Given the description of an element on the screen output the (x, y) to click on. 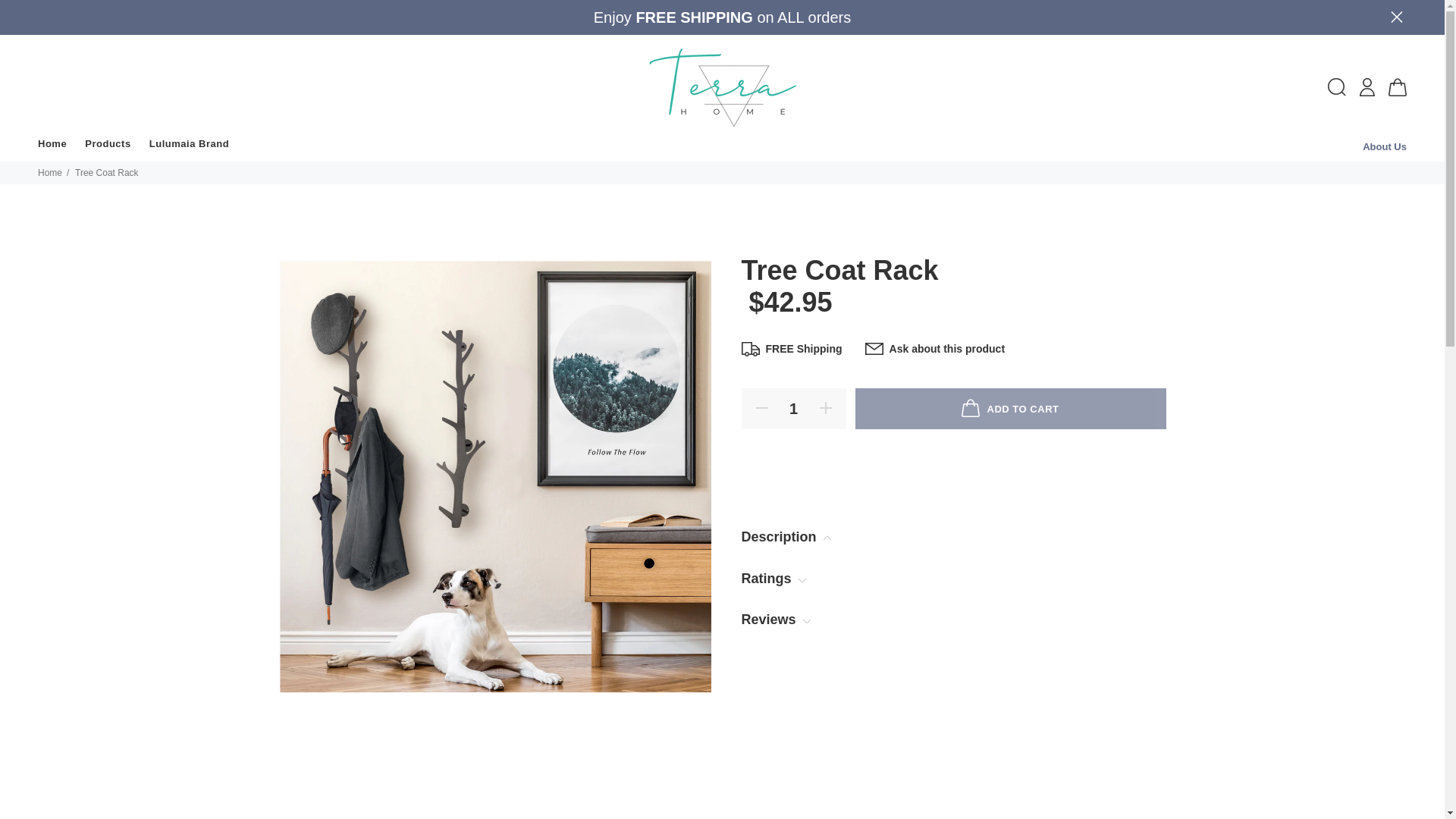
About Us (1384, 146)
Products (107, 146)
1 (793, 408)
Ask about this product (934, 350)
Lulumaia Brand (184, 146)
ADD TO CART (1011, 408)
FREE Shipping (792, 350)
Home (56, 146)
Home (49, 172)
